Given the description of an element on the screen output the (x, y) to click on. 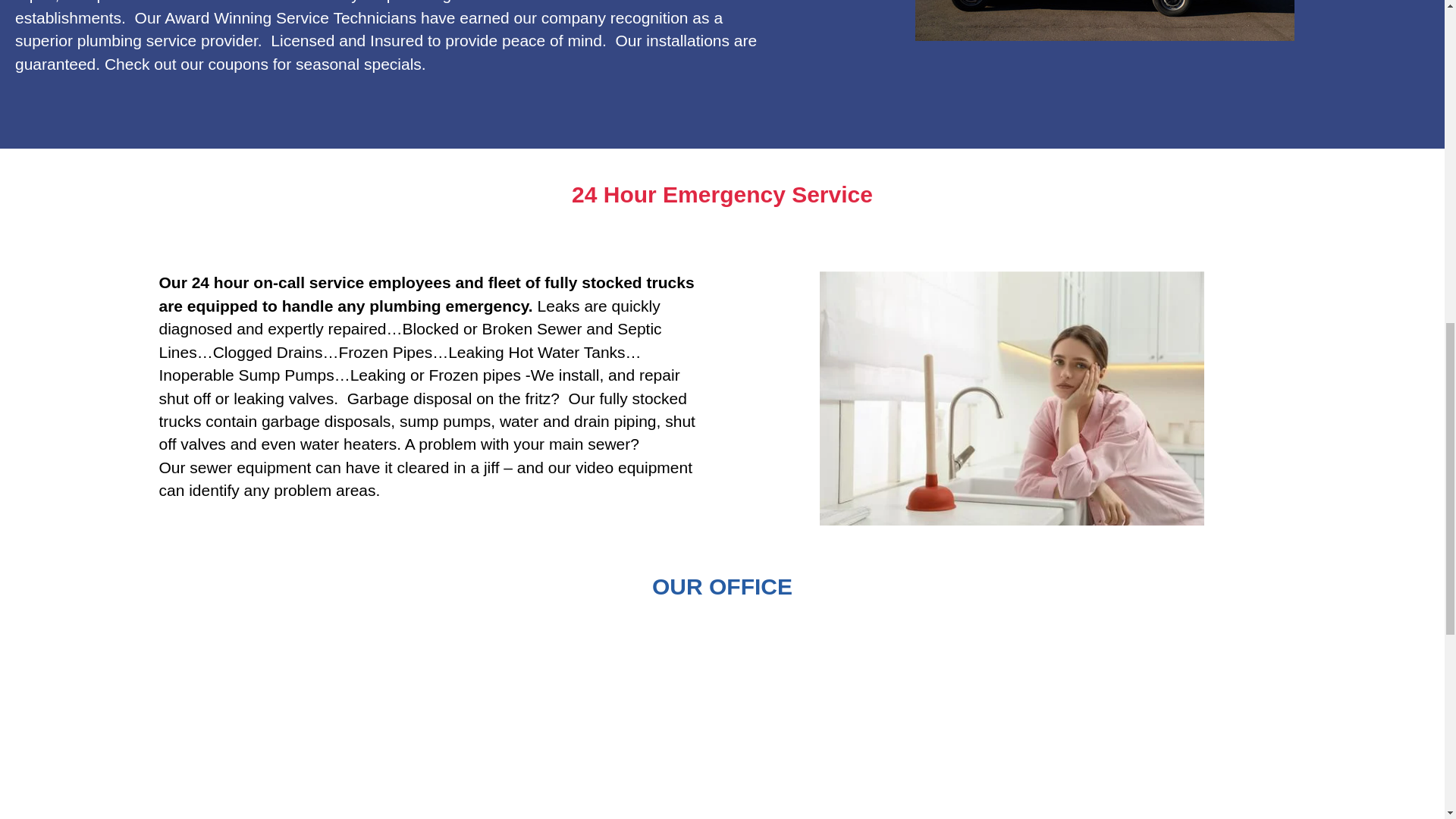
a-fordable plumbing truck (1104, 20)
clogged drain customer (1011, 398)
Check out our coupons (185, 63)
